Given the description of an element on the screen output the (x, y) to click on. 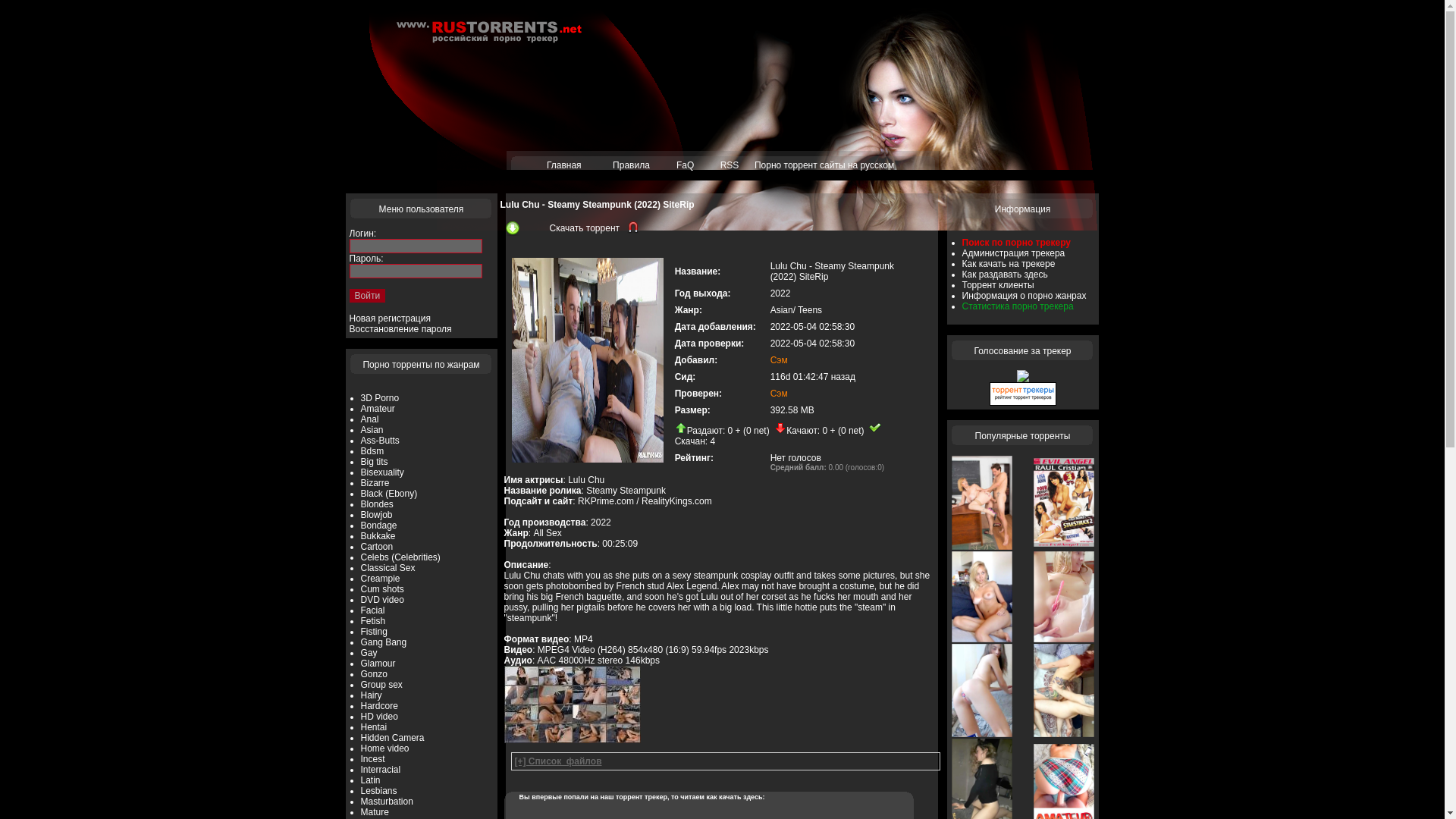
HD video (379, 716)
FaQ (685, 164)
Blowjob (377, 514)
3D Porno (379, 398)
Bisexuality (382, 471)
Bizarre (375, 482)
bondage, domination, submission, sadism, masochism  (372, 450)
Facial (373, 610)
Bdsm (372, 450)
Hardcore (379, 706)
